Given the description of an element on the screen output the (x, y) to click on. 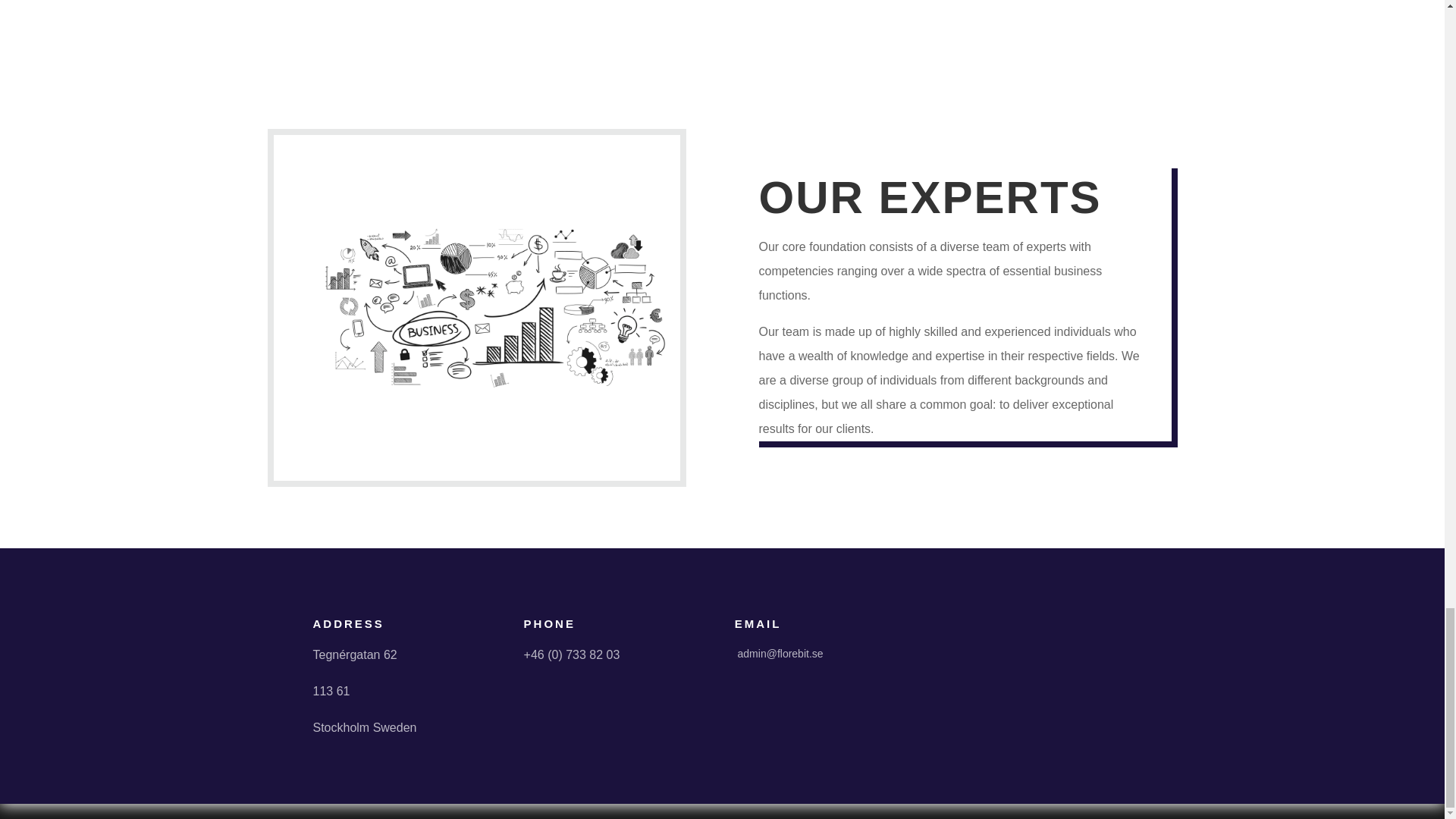
Erik Florenova 39 (493, 308)
